Given the description of an element on the screen output the (x, y) to click on. 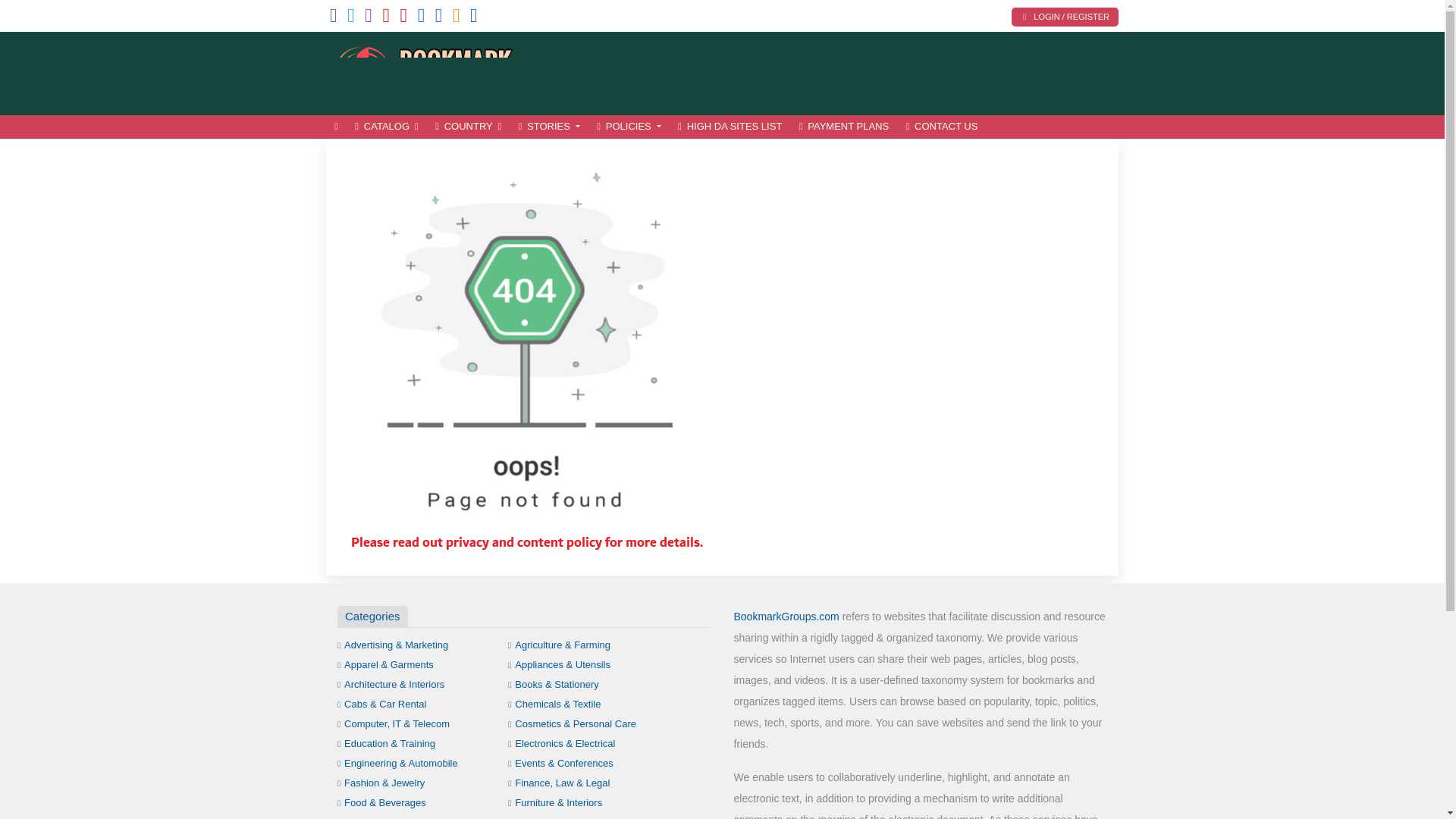
CATALOG (386, 126)
Submit Story, News, Videos and Images to SEO Web Community (428, 71)
